Given the description of an element on the screen output the (x, y) to click on. 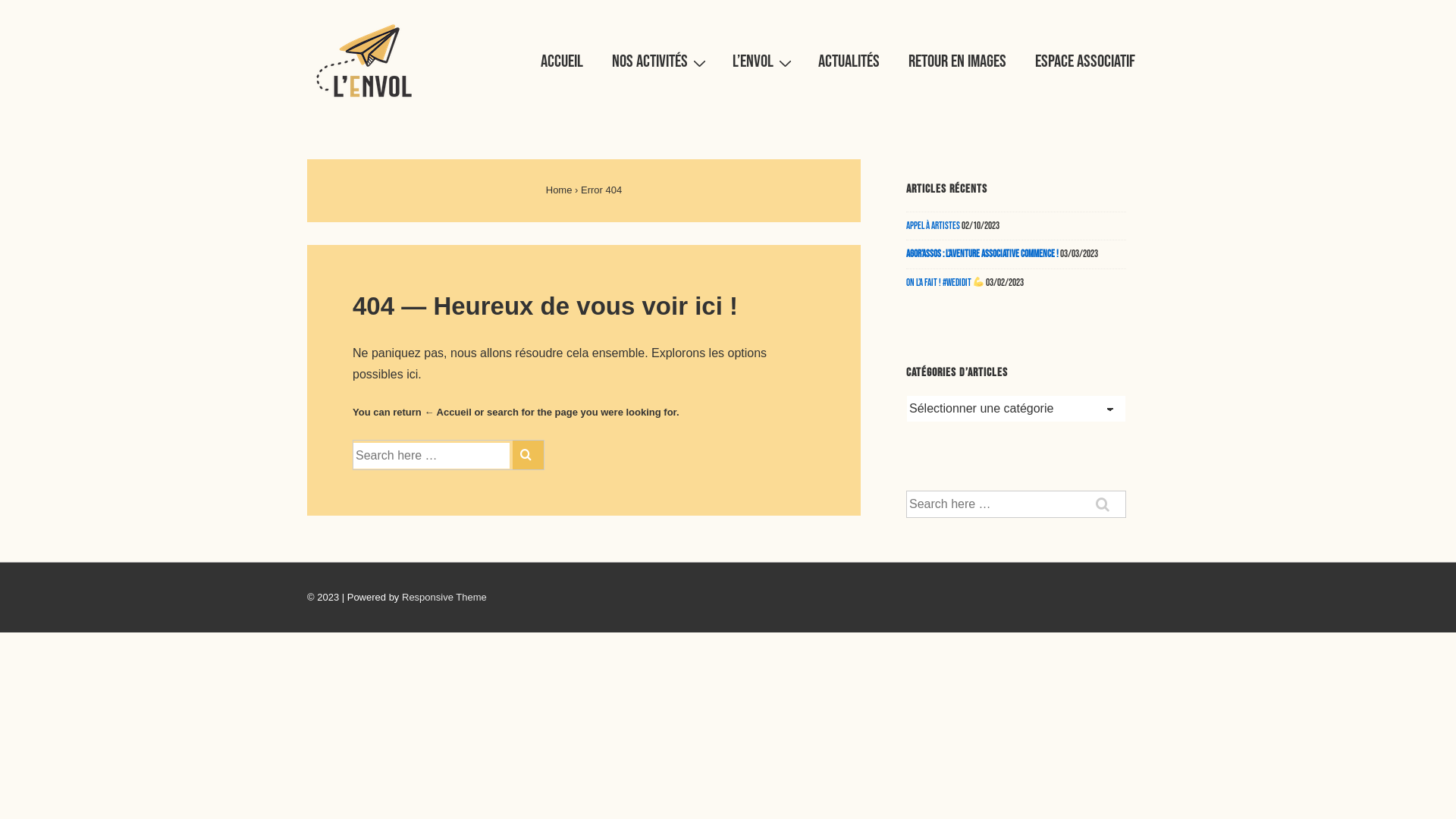
Espace associatif Element type: text (1084, 61)
Home Element type: text (559, 189)
Search Element type: text (527, 454)
Retour en images Element type: text (956, 61)
Responsive Theme Element type: text (443, 596)
Accueil Element type: text (561, 61)
